Given the description of an element on the screen output the (x, y) to click on. 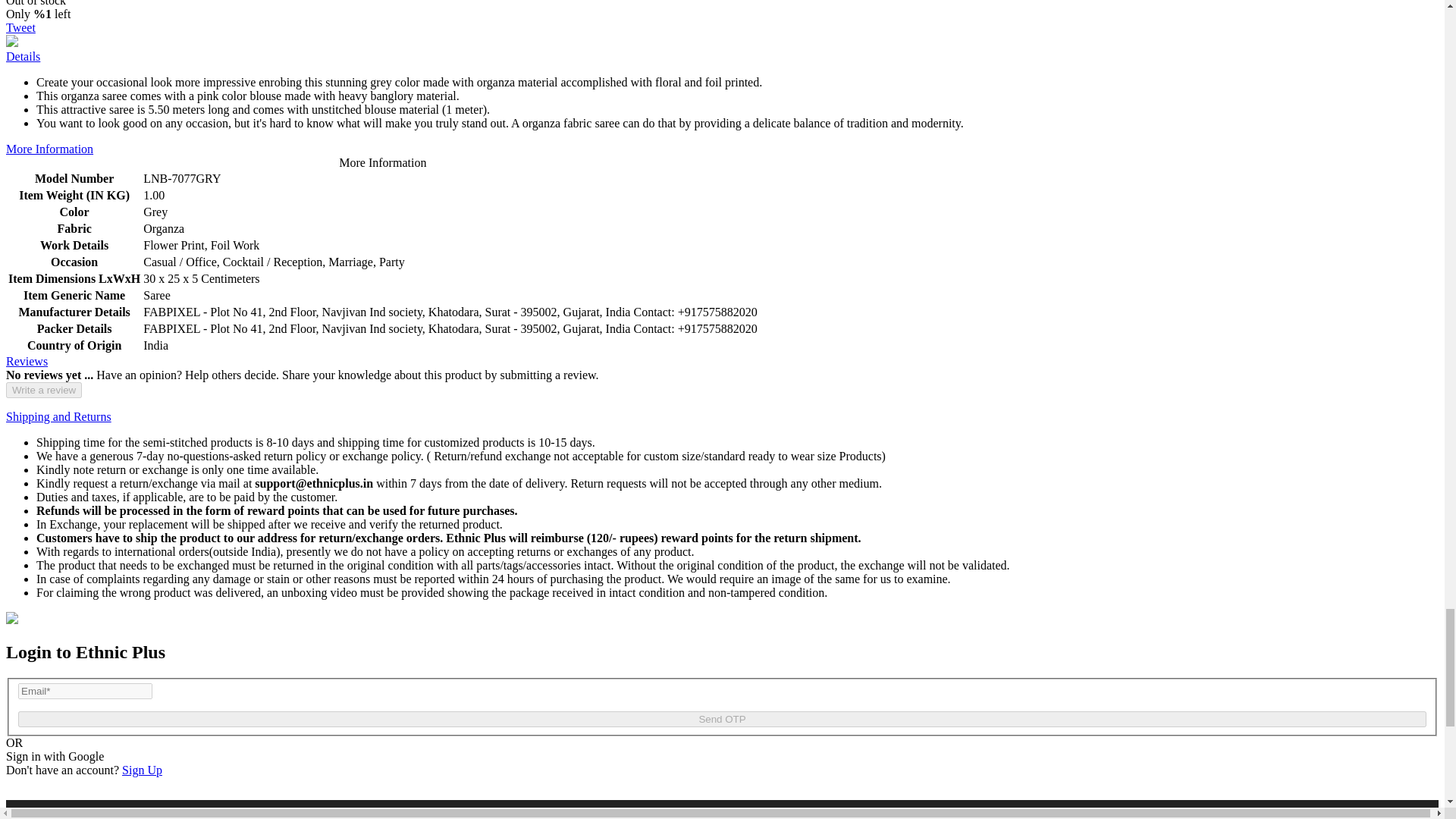
Email (84, 691)
